Given the description of an element on the screen output the (x, y) to click on. 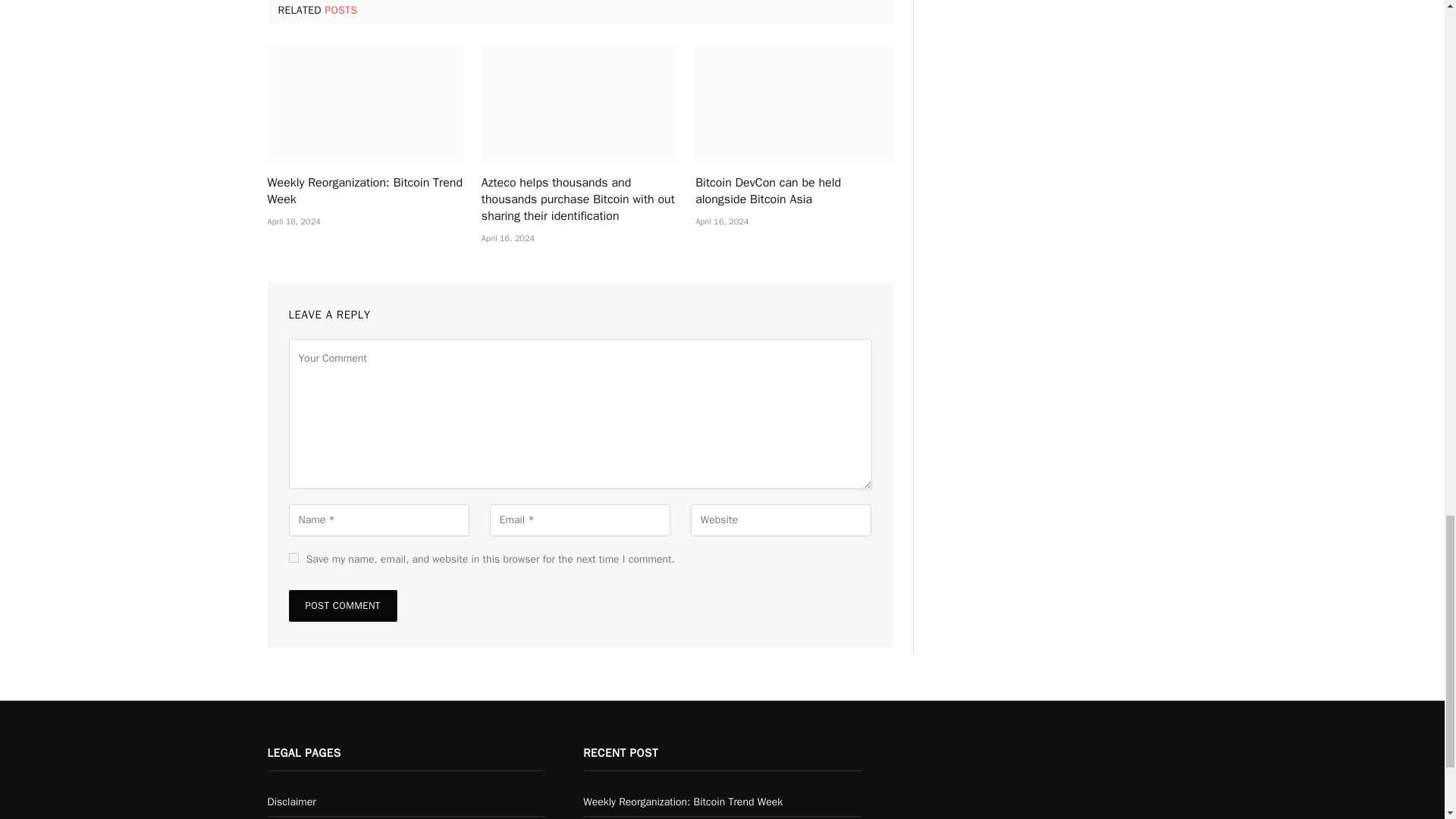
yes (293, 557)
Weekly Reorganization: Bitcoin Trend Week (365, 191)
Weekly Reorganization: Bitcoin Trend Week (365, 103)
Post Comment (342, 605)
Bitcoin DevCon can be held alongside Bitcoin Asia (793, 103)
